Given the description of an element on the screen output the (x, y) to click on. 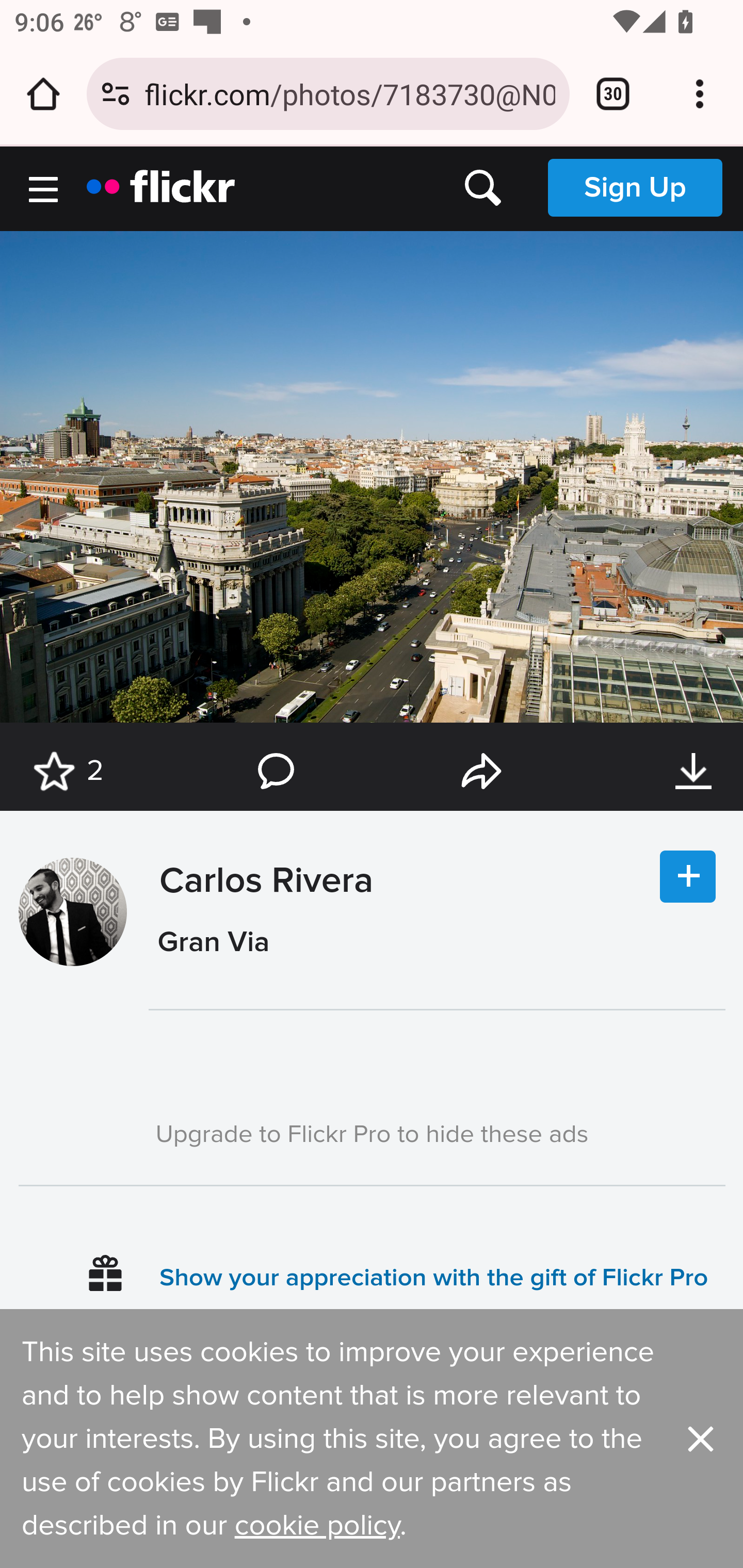
Open the home page (43, 93)
Connection is secure (115, 93)
Switch or close tabs (612, 93)
Customize and control Google Chrome (699, 93)
flickr.com/photos/7183730@N06/3735274283 (349, 92)
Sign Up Sign Up Sign Up (634, 187)
Download this photo (692, 770)
Follow (687, 876)
riverac (72, 911)
Carlos Rivera (261, 930)
Upgrade to Flickr Pro to hide these ads (371, 1132)
Show your appreciation with the gift of Flickr Pro (434, 1277)
